Given the description of an element on the screen output the (x, y) to click on. 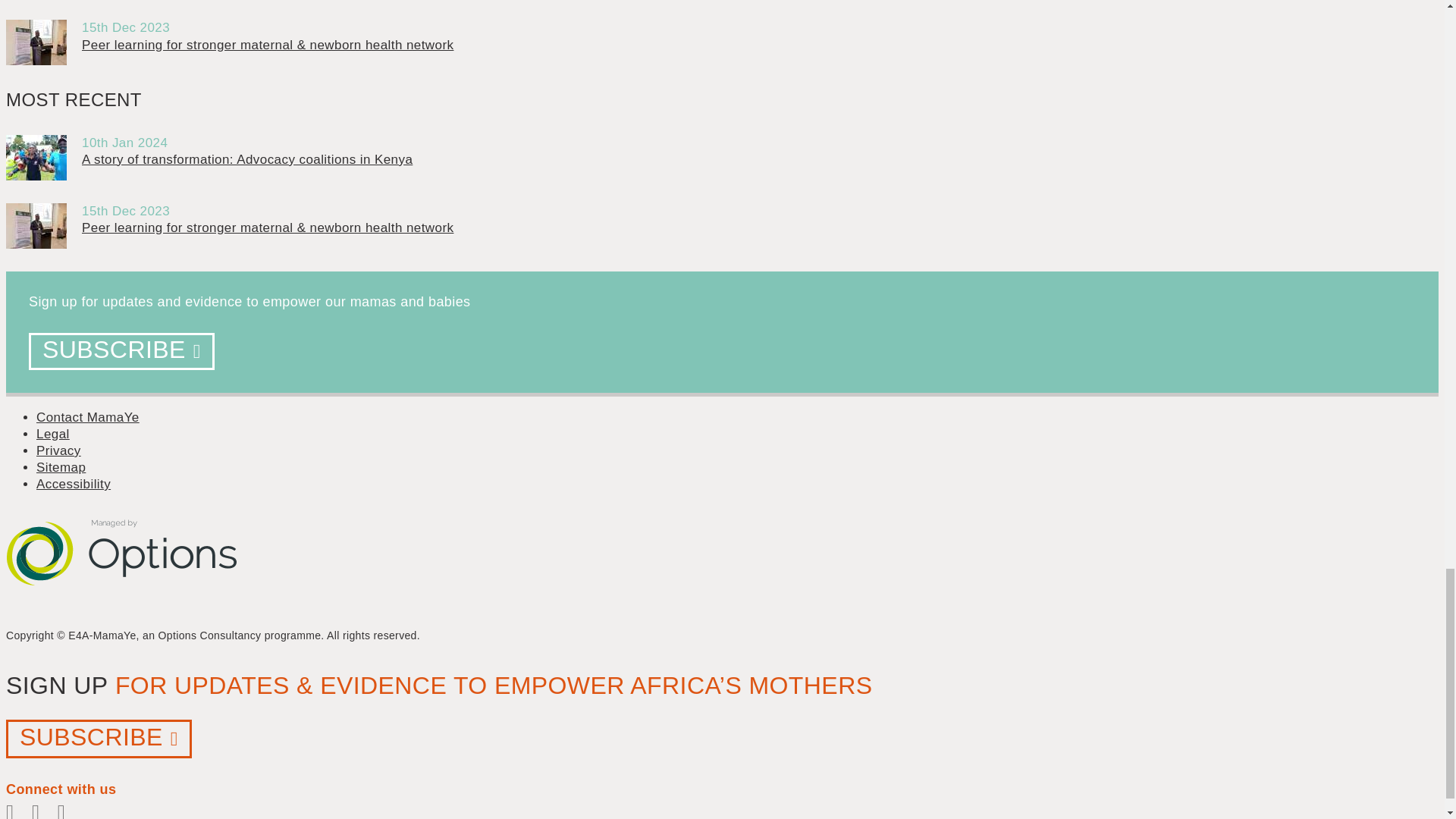
Managed by Options (123, 608)
